Given the description of an element on the screen output the (x, y) to click on. 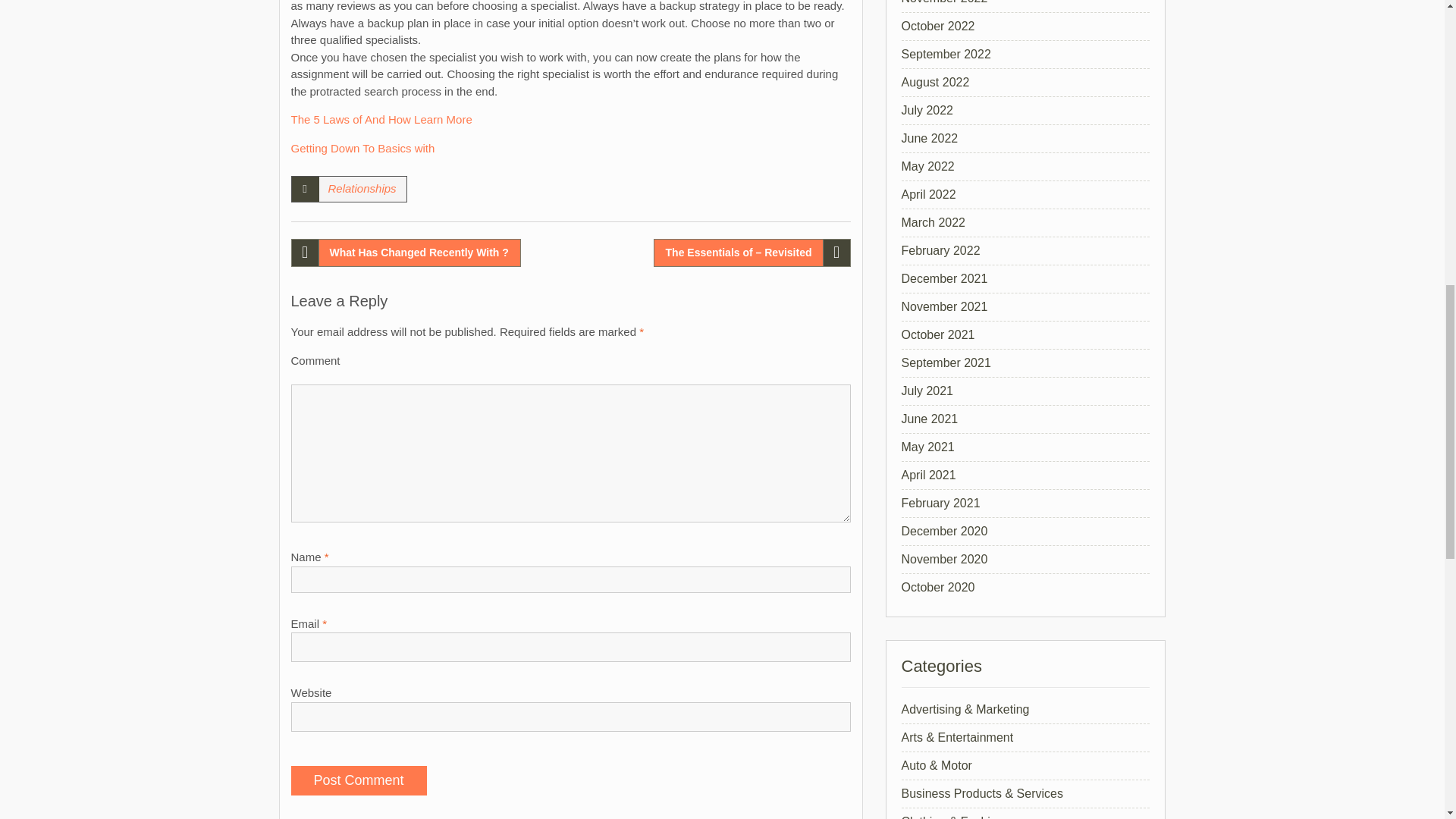
October 2022 (937, 25)
November 2022 (944, 2)
Post Comment (358, 780)
Post Comment (358, 780)
What Has Changed Recently With ? (406, 252)
Relationships (361, 187)
The 5 Laws of And How Learn More (381, 119)
September 2022 (945, 53)
Getting Down To Basics with (363, 146)
